Given the description of an element on the screen output the (x, y) to click on. 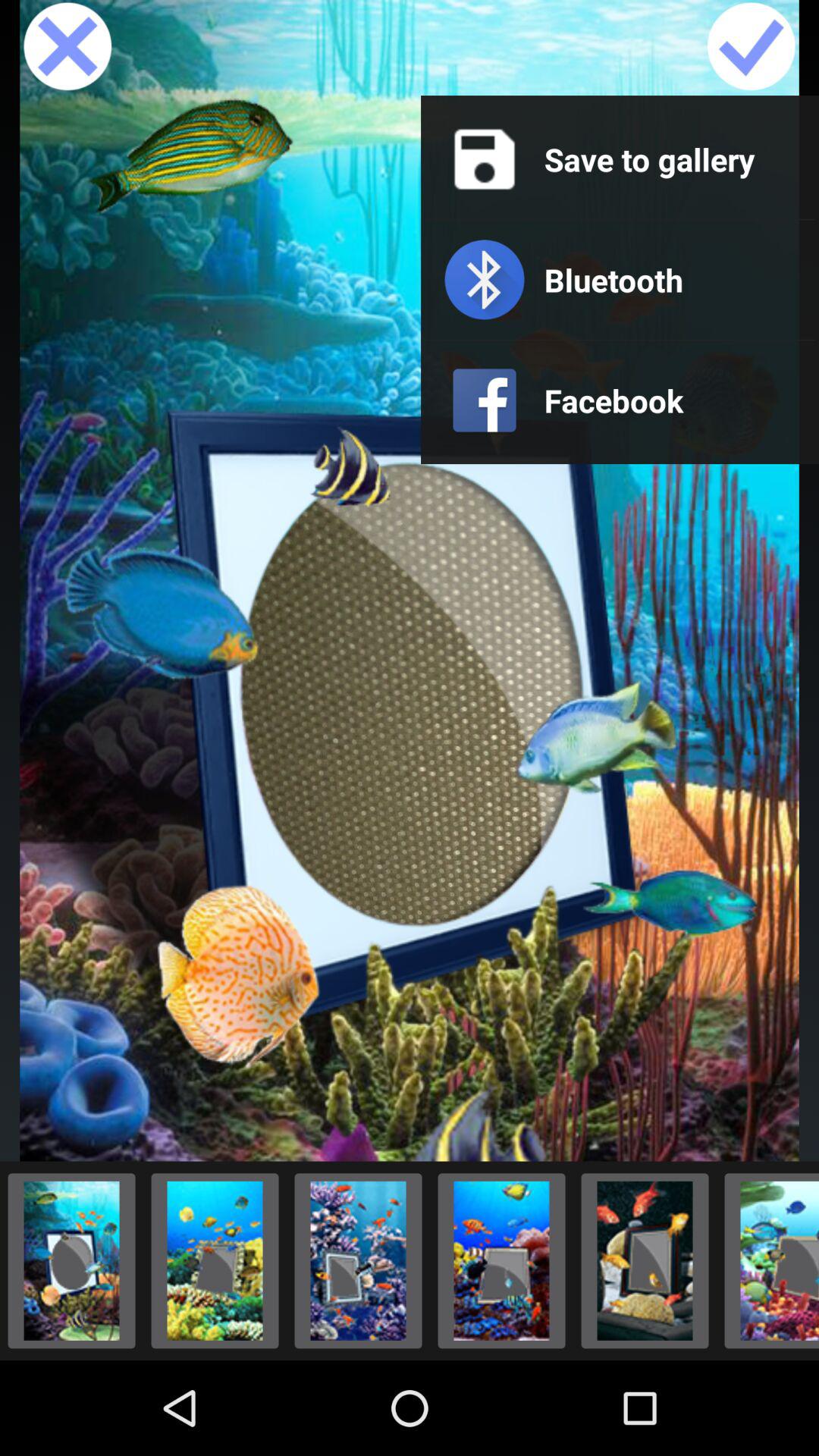
close the window (67, 47)
